Given the description of an element on the screen output the (x, y) to click on. 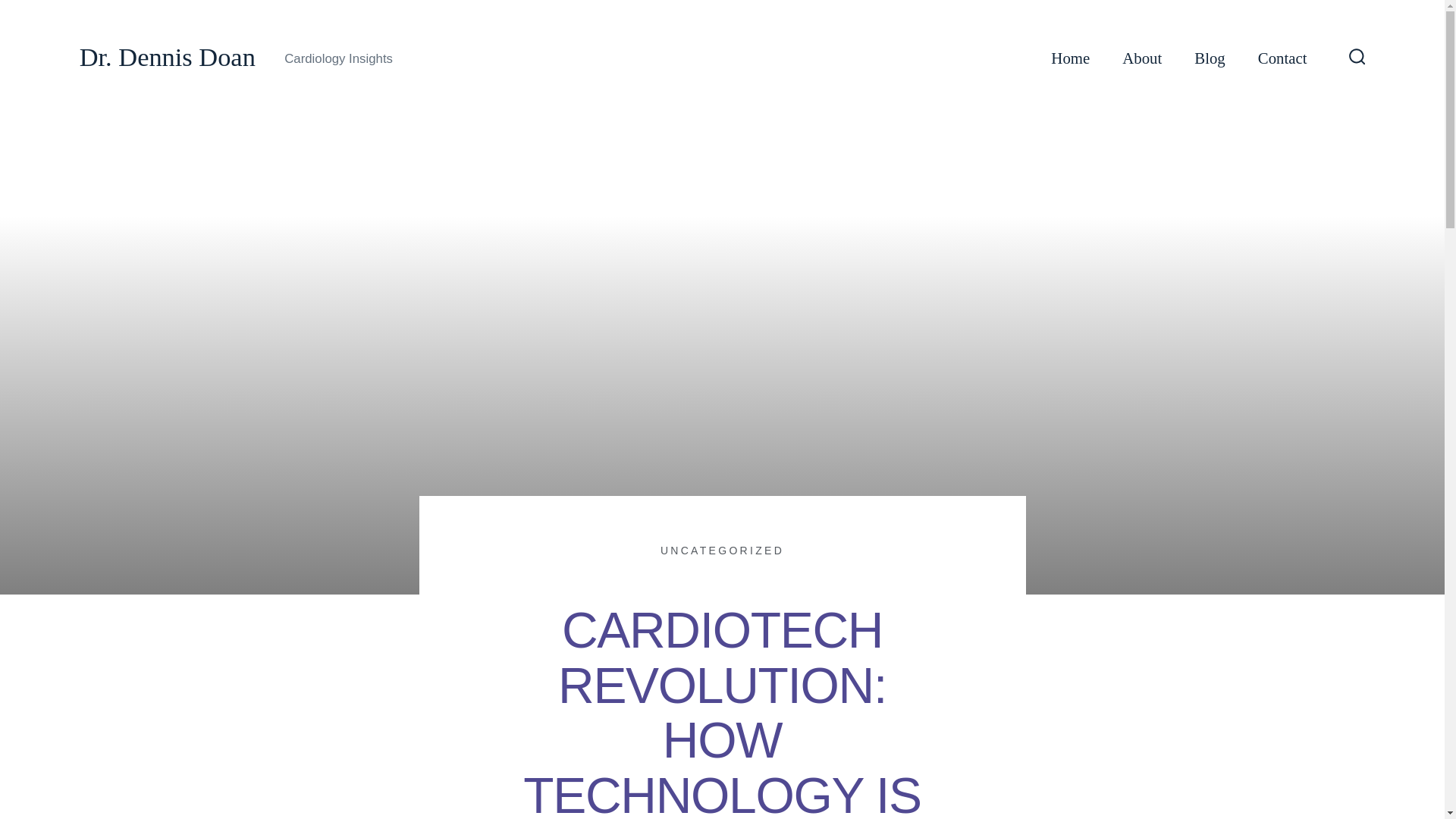
Blog (1208, 58)
About (1141, 58)
Dr. Dennis Doan (168, 58)
Home (1070, 58)
UNCATEGORIZED (722, 550)
Contact (1282, 58)
